Given the description of an element on the screen output the (x, y) to click on. 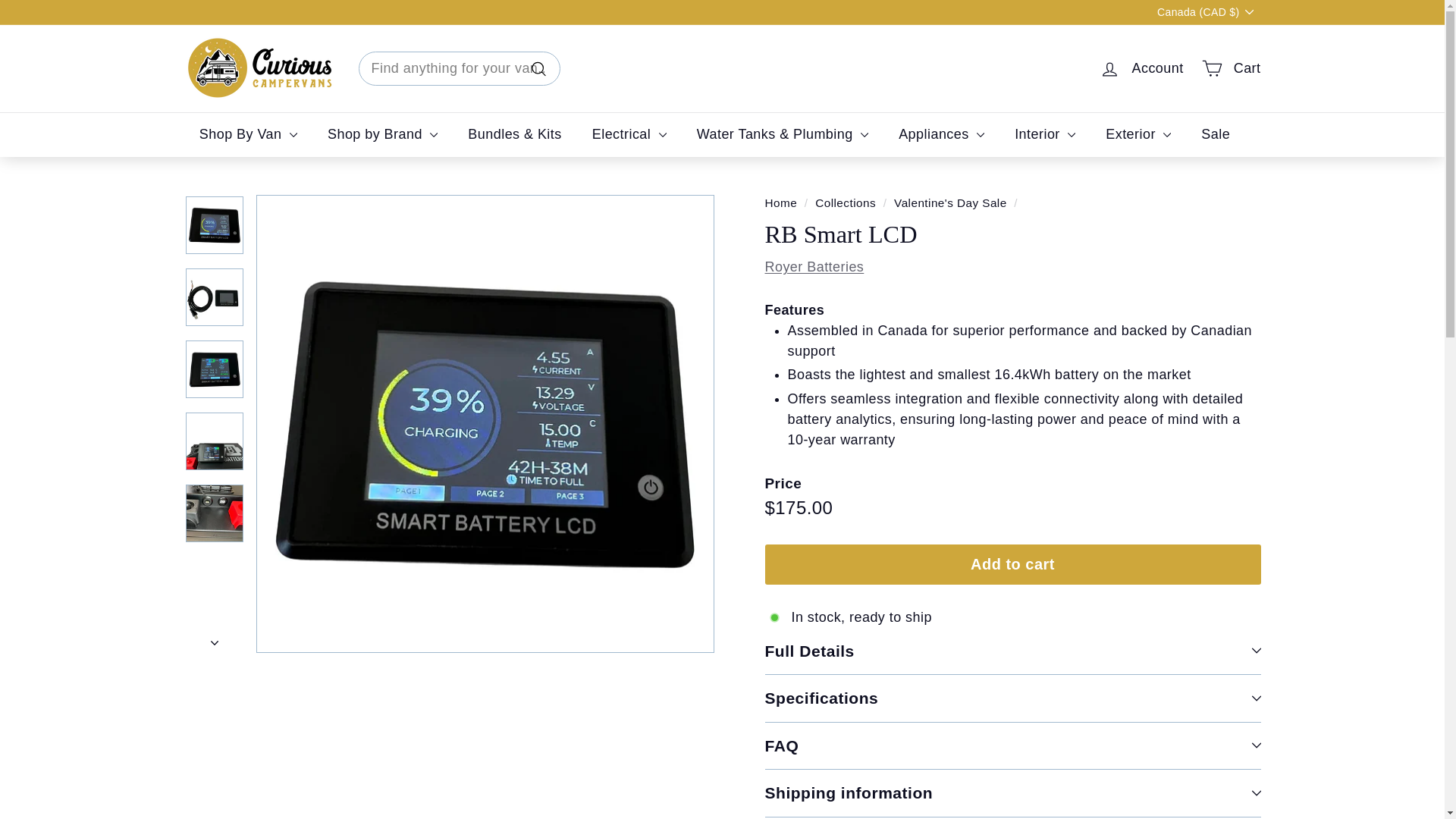
Cart (1230, 68)
Account (1141, 67)
icon-chevron (214, 642)
Back to the frontpage (780, 202)
